Given the description of an element on the screen output the (x, y) to click on. 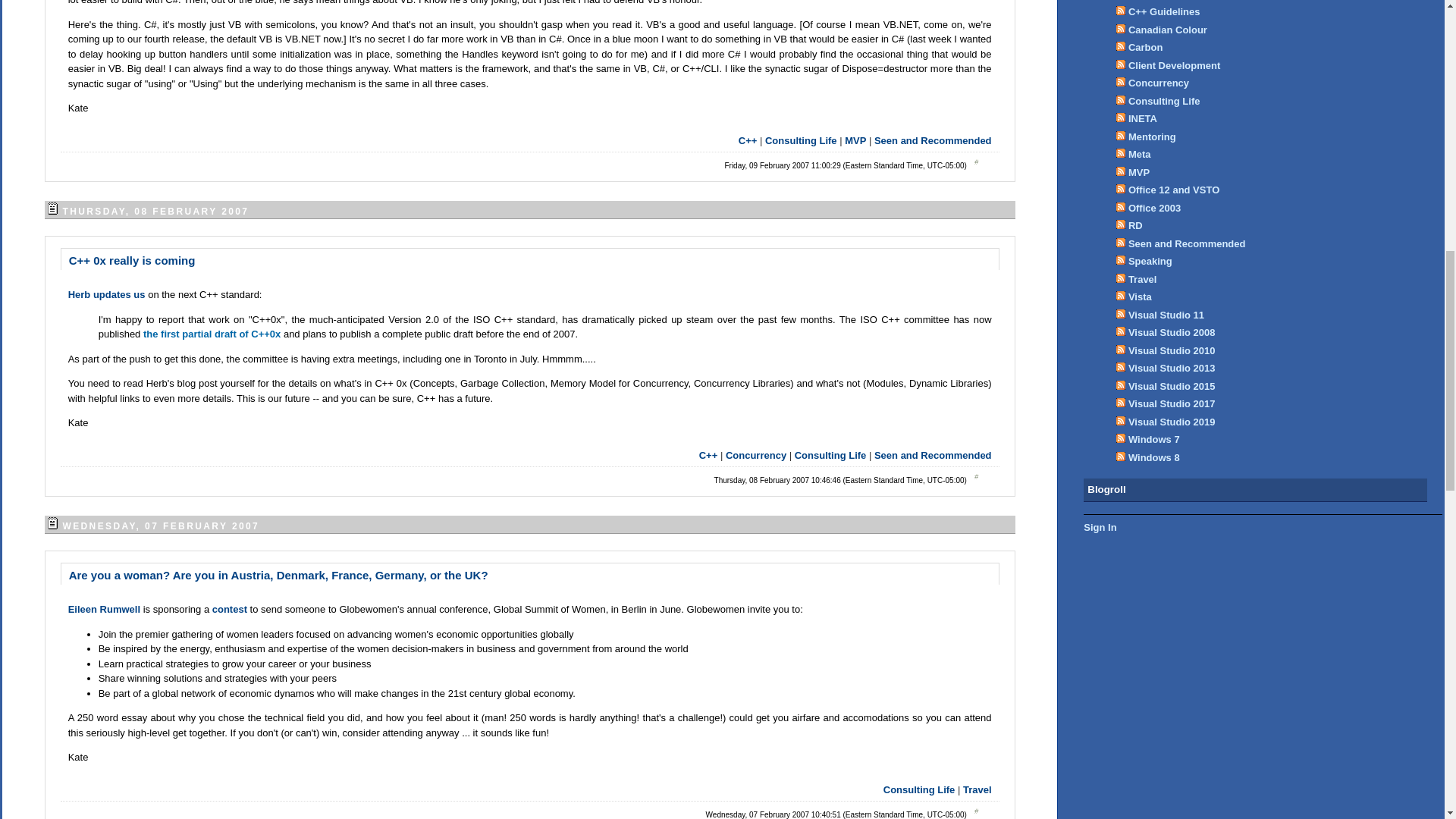
Seen and Recommended (933, 140)
Concurrency (755, 454)
Consulting Life (830, 454)
MVP (855, 140)
Consulting Life (919, 789)
Herb updates us (108, 294)
Seen and Recommended (933, 454)
contest (231, 609)
Consulting Life (801, 140)
Eileen Rumwell (105, 609)
